Given the description of an element on the screen output the (x, y) to click on. 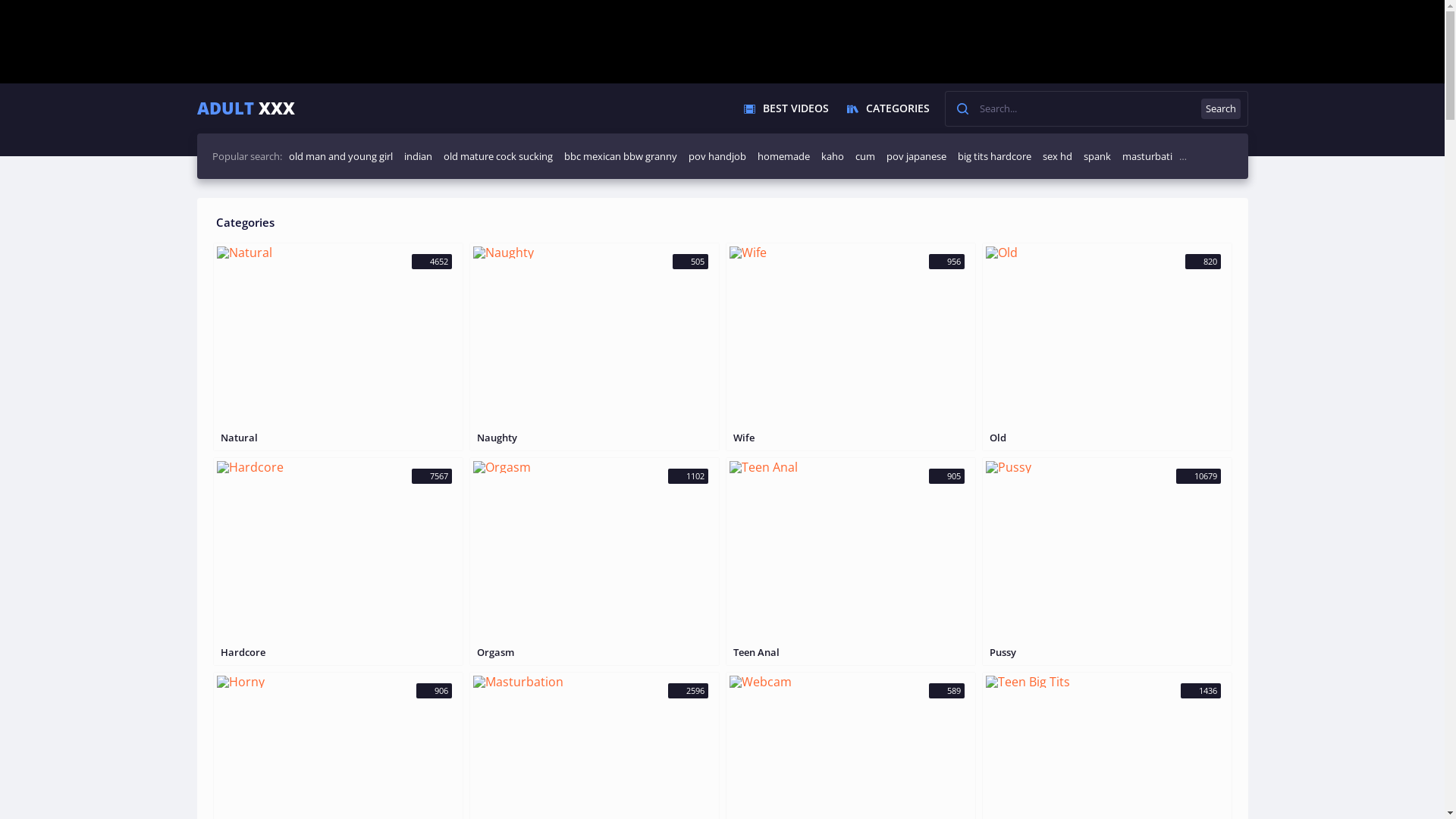
sex hd Element type: text (1056, 155)
old mature cock sucking Element type: text (497, 155)
905 Element type: text (850, 552)
american granny hot Element type: text (1230, 155)
Hardcore Element type: text (337, 652)
956 Element type: text (850, 337)
Teen Anal Element type: text (850, 652)
pov handjob Element type: text (717, 155)
indian Element type: text (417, 155)
Orgasm Element type: text (594, 652)
Wife Element type: text (850, 437)
1102 Element type: text (594, 552)
big tits hardcore Element type: text (993, 155)
bbc mexican bbw granny Element type: text (620, 155)
820 Element type: text (1106, 337)
Search X Videos Element type: hover (1096, 108)
Pussy Element type: text (1106, 652)
Search Element type: text (1220, 108)
old man and young girl Element type: text (340, 155)
masturbati Element type: text (1147, 155)
homemade Element type: text (782, 155)
cum Element type: text (865, 155)
pov japanese Element type: text (915, 155)
spank Element type: text (1096, 155)
kaho Element type: text (831, 155)
Old Element type: text (1106, 437)
505 Element type: text (594, 337)
Naughty Element type: text (594, 437)
CATEGORIES Element type: text (887, 108)
BEST VIDEOS Element type: text (785, 108)
Natural Element type: text (337, 437)
ADULT XXX Element type: text (245, 107)
10679 Element type: text (1106, 552)
4652 Element type: text (337, 337)
7567 Element type: text (337, 552)
